Given the description of an element on the screen output the (x, y) to click on. 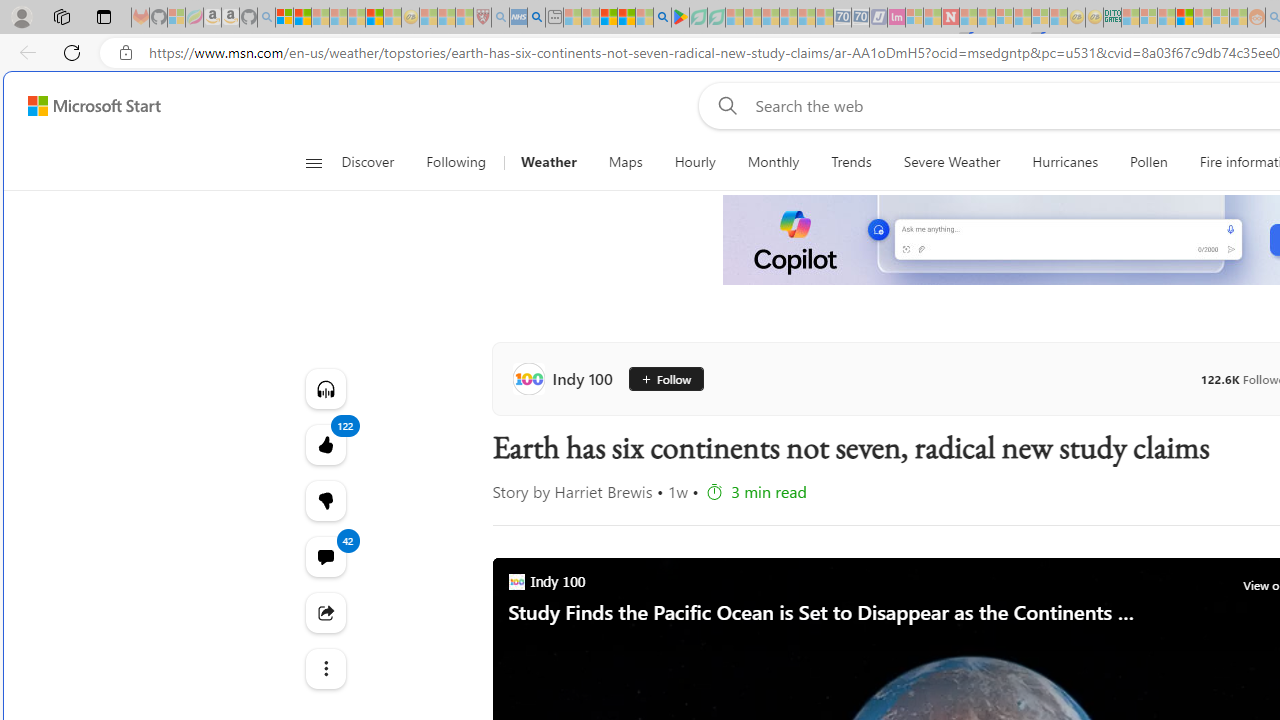
Local - MSN - Sleeping (464, 17)
Share this story (324, 612)
Skip to footer (82, 105)
New Report Confirms 2023 Was Record Hot | Watch - Sleeping (356, 17)
Web search (724, 105)
Cheap Car Rentals - Save70.com - Sleeping (842, 17)
DITOGAMES AG Imprint (1112, 17)
Monthly (773, 162)
MSNBC - MSN - Sleeping (1130, 17)
Cheap Hotels - Save70.com - Sleeping (860, 17)
Trends (850, 162)
